Given the description of an element on the screen output the (x, y) to click on. 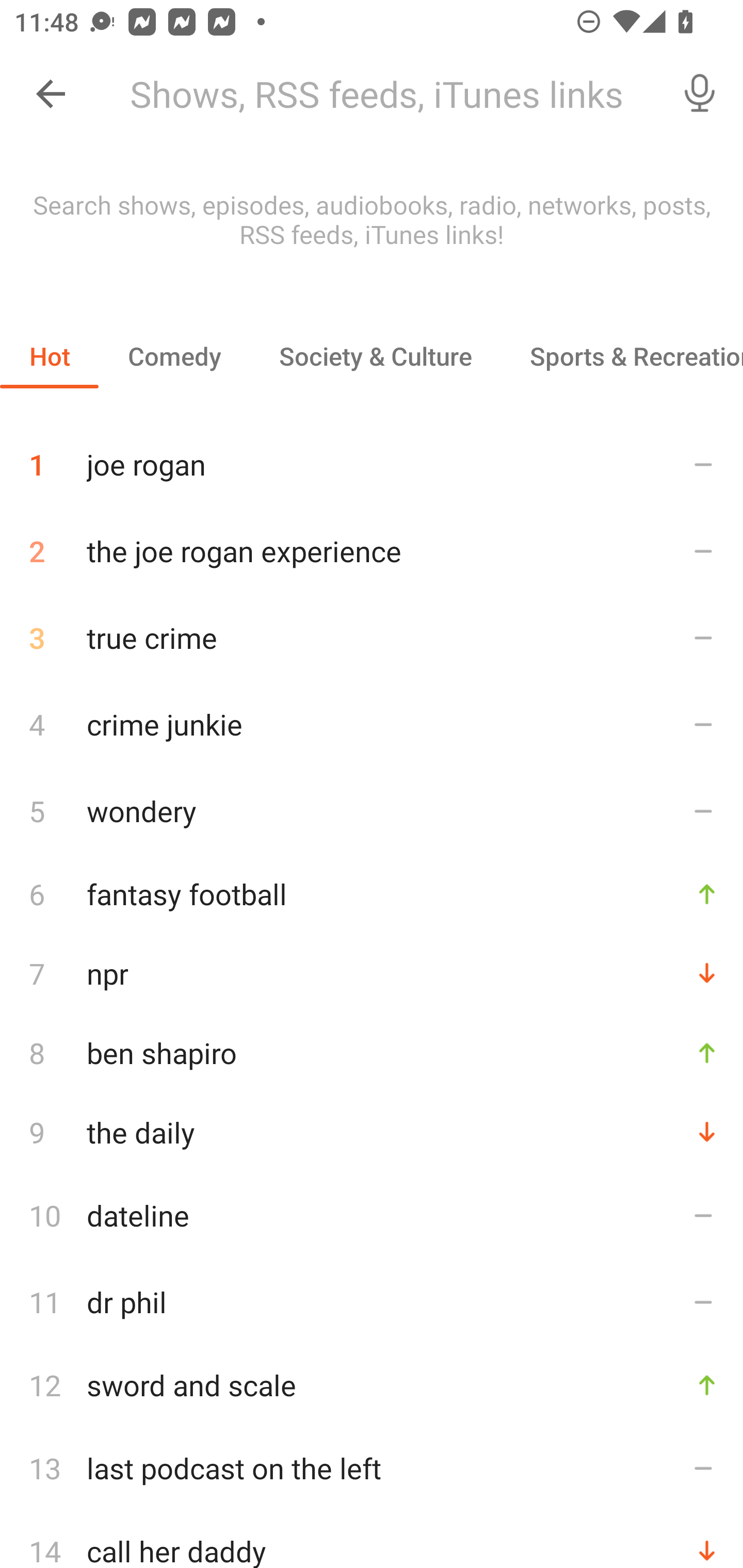
Collapse (50, 93)
Voice Search (699, 93)
Shows, RSS feeds, iTunes links (385, 94)
Hot (49, 355)
Comedy (173, 355)
Society & Culture (374, 355)
Sports & Recreation (621, 355)
1 joe rogan (371, 457)
2 the joe rogan experience (371, 551)
3 true crime (371, 637)
4 crime junkie (371, 723)
5 wondery (371, 810)
6 fantasy football (371, 893)
7 npr (371, 972)
8 ben shapiro (371, 1052)
9 the daily (371, 1131)
10 dateline (371, 1215)
11 dr phil (371, 1302)
12 sword and scale (371, 1385)
13 last podcast on the left (371, 1468)
14 call her daddy (371, 1539)
